Given the description of an element on the screen output the (x, y) to click on. 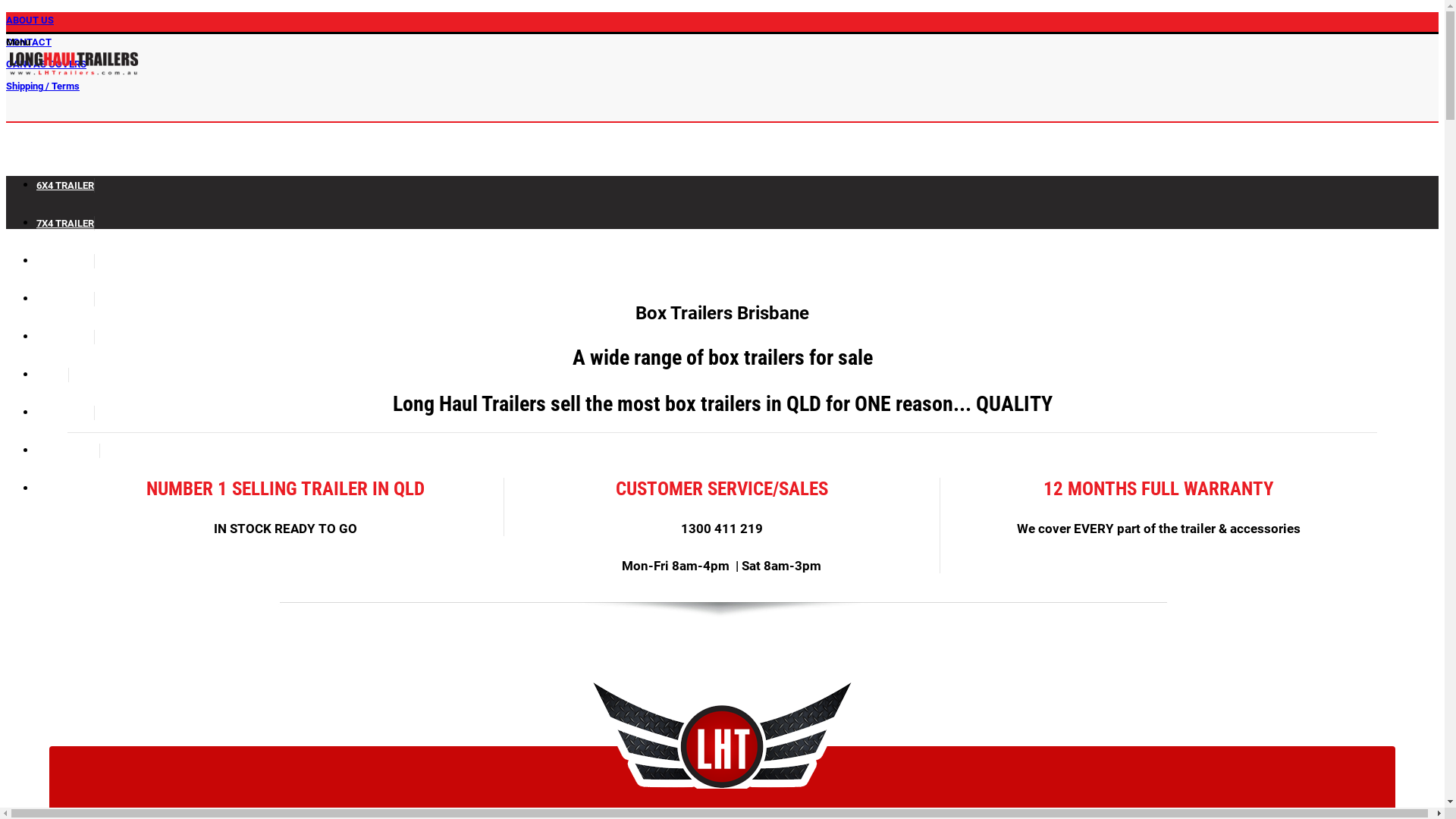
7X5 TRAILER Element type: text (65, 270)
CONTACT Element type: text (28, 46)
TANDEM 10X5 Element type: text (67, 460)
TANDEM 10X6 Element type: text (67, 498)
7X4 TRAILER Element type: text (65, 232)
8X5 TRAILER Element type: text (65, 308)
8X6 TRAILER Element type: text (65, 346)
8X5 HD Element type: text (52, 384)
6X4 TRAILER Element type: text (65, 194)
CANVAS COVERS Element type: text (46, 68)
Shipping / Terms Element type: text (42, 90)
TANDEM 8X5 Element type: text (65, 422)
ABOUT US Element type: text (29, 24)
